Given the description of an element on the screen output the (x, y) to click on. 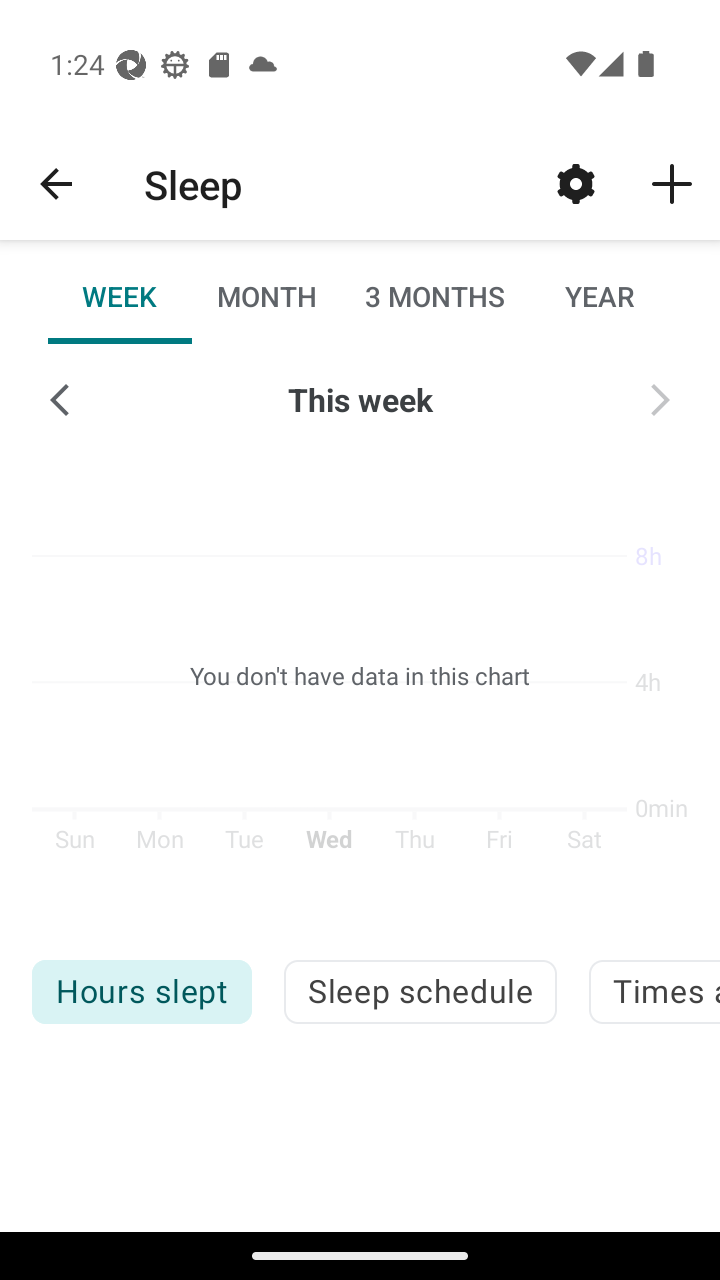
Navigate up (56, 184)
Adjust your goal (575, 183)
Tap to track sleep or
 log a past record (672, 183)
MONTH (265, 296)
3 MONTHS (433, 296)
YEAR (599, 296)
Previous (60, 399)
Next (659, 399)
Hours slept (141, 991)
Sleep schedule (420, 991)
Times awakened (654, 991)
